Given the description of an element on the screen output the (x, y) to click on. 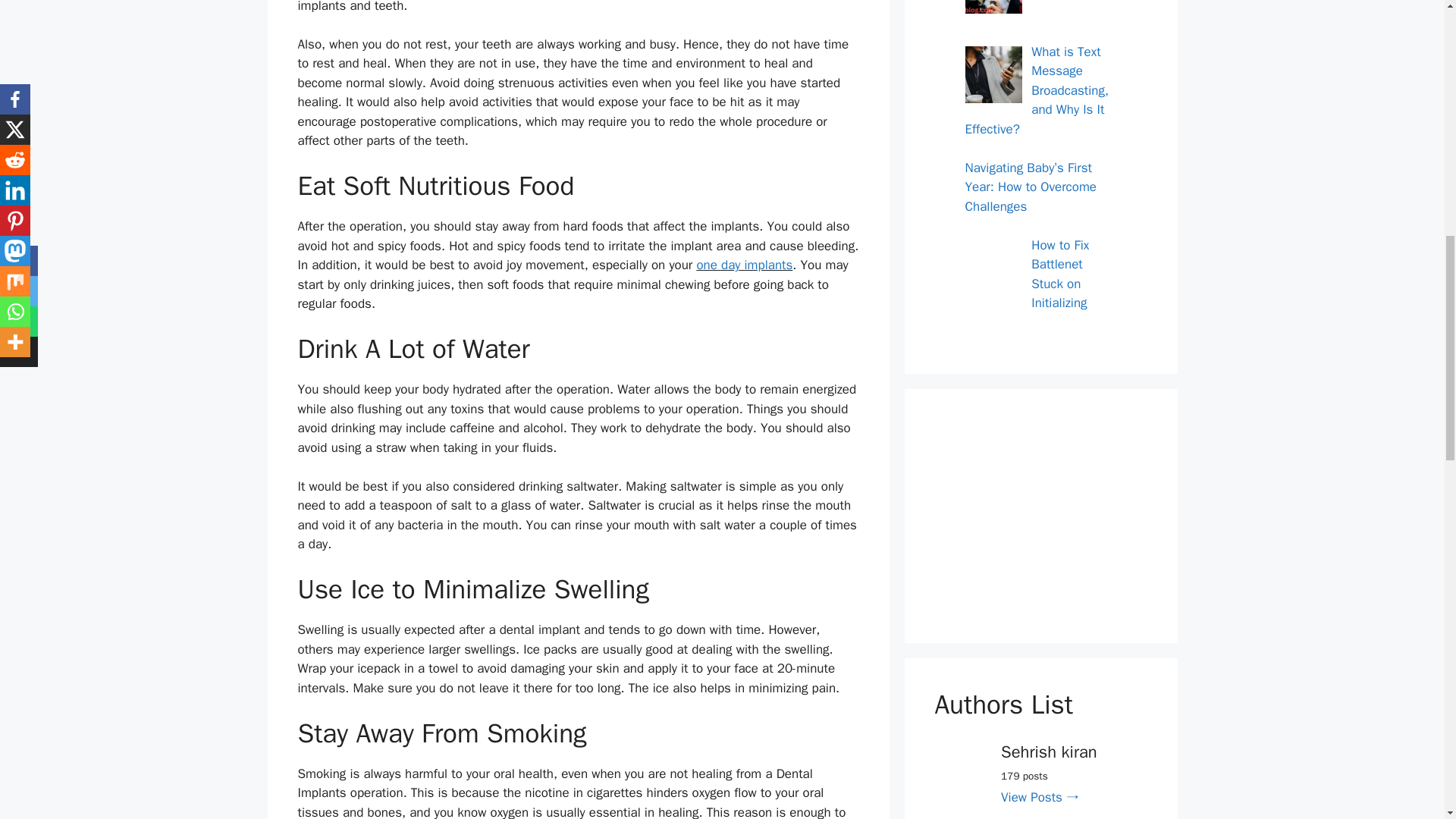
one day implants (743, 264)
